Given the description of an element on the screen output the (x, y) to click on. 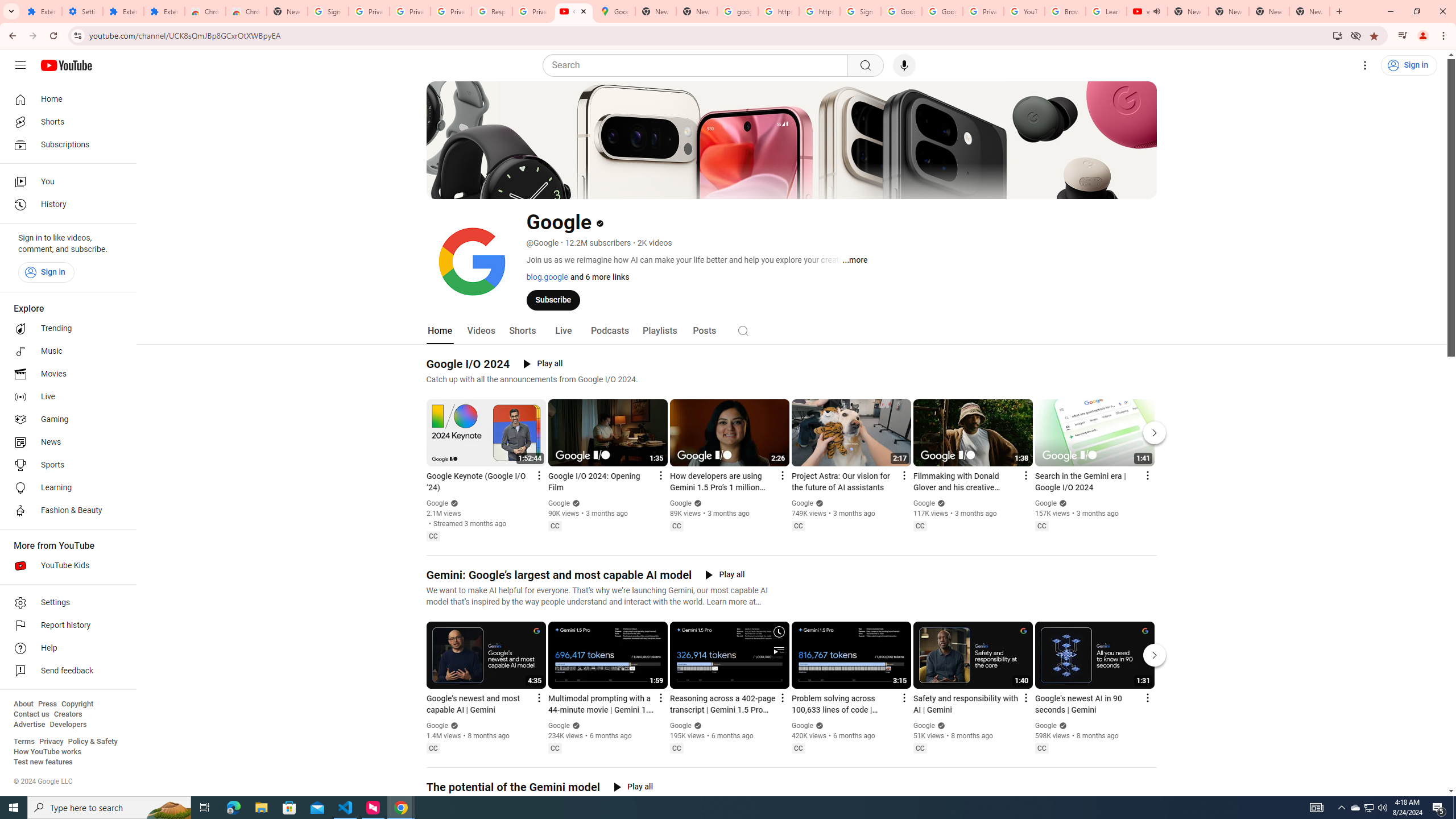
Posts (703, 330)
The potential of the Gemini model (512, 786)
News (64, 441)
Extensions (122, 11)
Videos (481, 330)
Sign in - Google Accounts (860, 11)
Help (64, 648)
Settings (1365, 65)
Next (1154, 654)
Settings (81, 11)
